Given the description of an element on the screen output the (x, y) to click on. 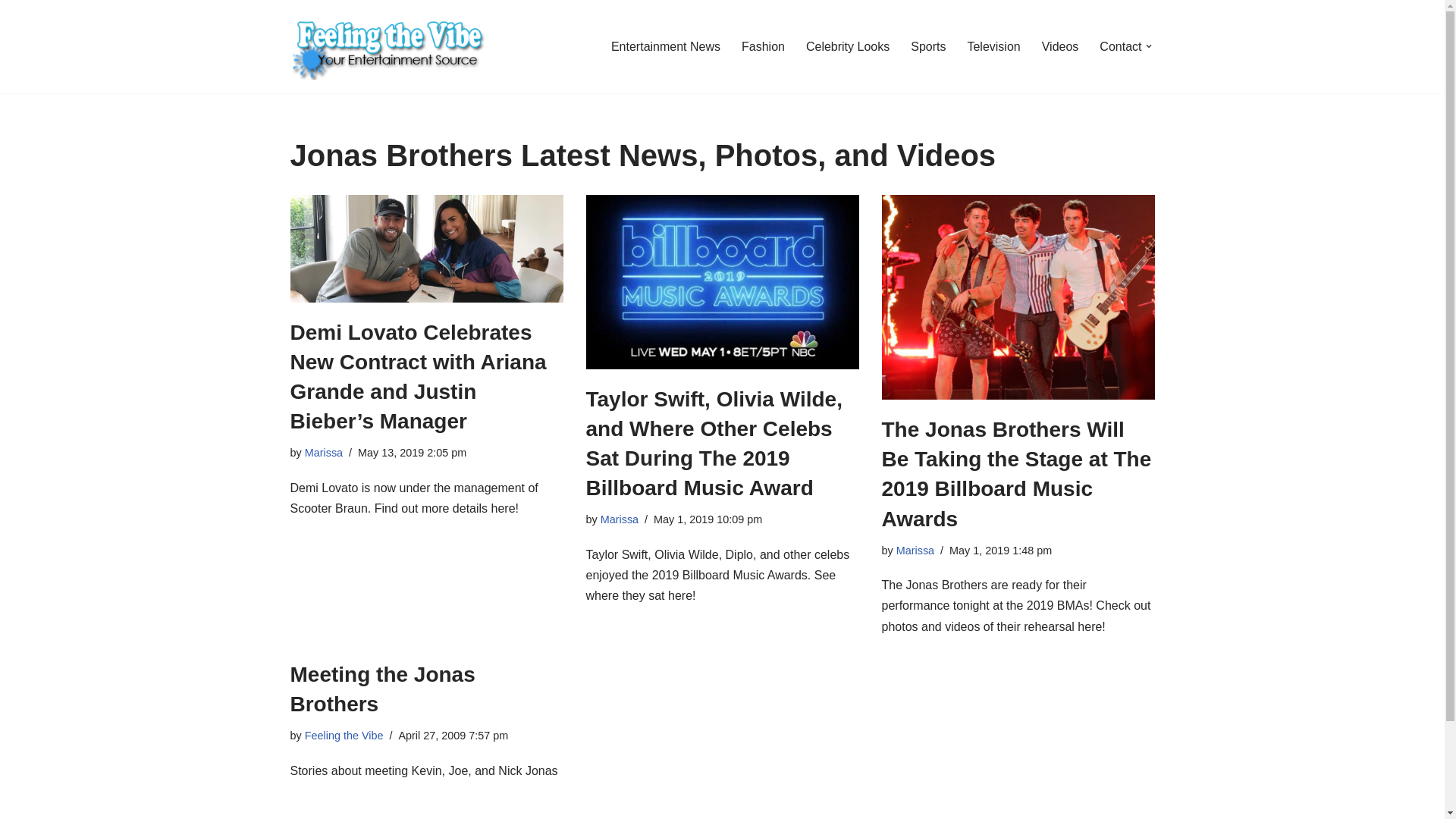
Marissa (323, 452)
Meeting the Jonas Brothers (381, 688)
Videos (1060, 46)
Posts by Marissa (323, 452)
Marissa (619, 519)
Contact (1120, 46)
Skip to content (11, 31)
